Given the description of an element on the screen output the (x, y) to click on. 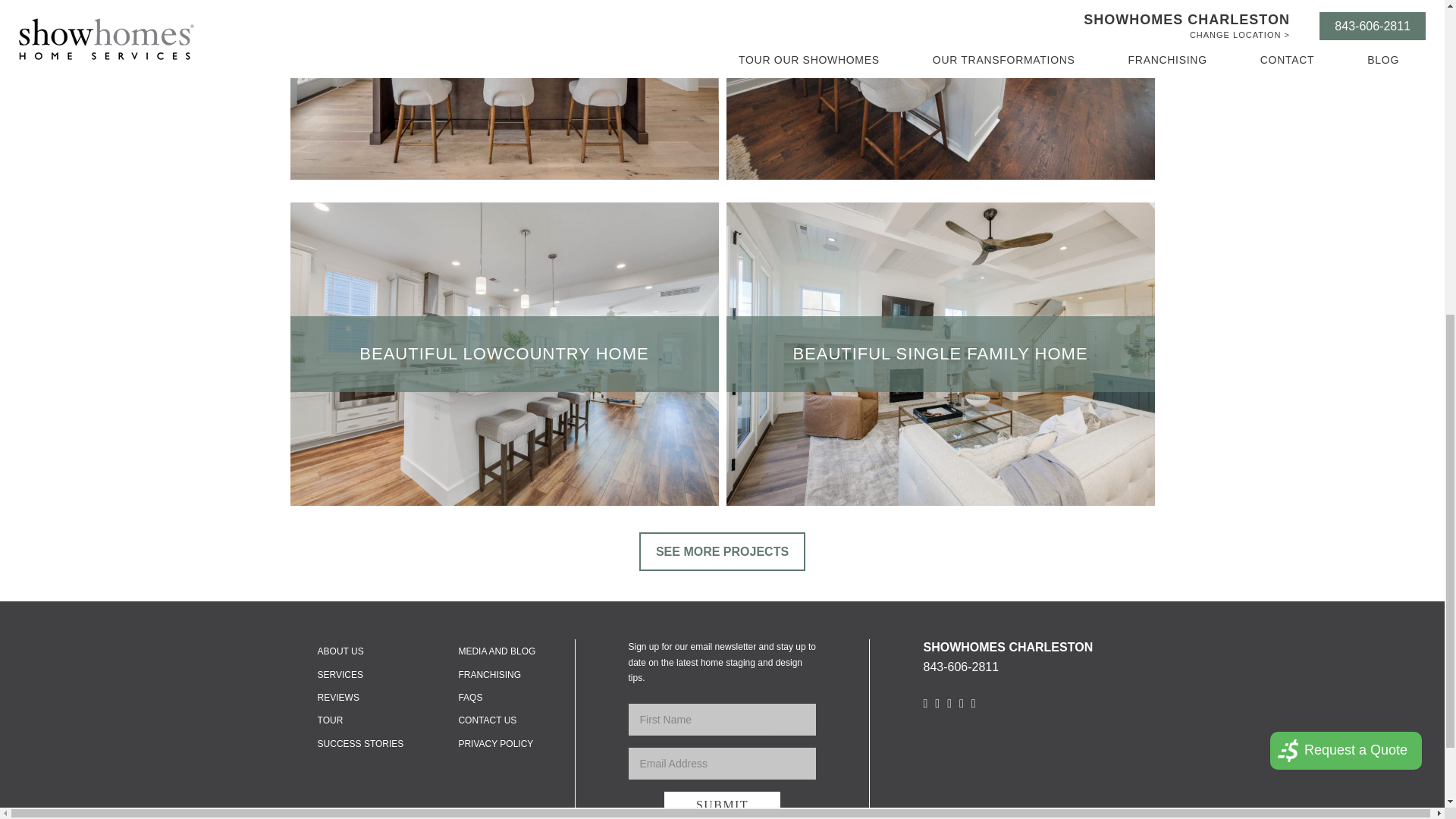
REVIEWS (338, 697)
TOUR (330, 719)
IMPRESSIVE LOW COUNTRY HOME (504, 27)
BEAUTIFUL SINGLE FAMILY HOME (939, 353)
Facebook (973, 703)
Instagram (925, 703)
LinkedIn (961, 703)
FAQS (469, 697)
PRIVACY POLICY (495, 743)
Houzz (936, 703)
SERVICES (339, 674)
SEE MORE PROJECTS (722, 551)
FRANCHISING (489, 674)
SUCCESS STORIES (360, 743)
Twitter (949, 703)
